Given the description of an element on the screen output the (x, y) to click on. 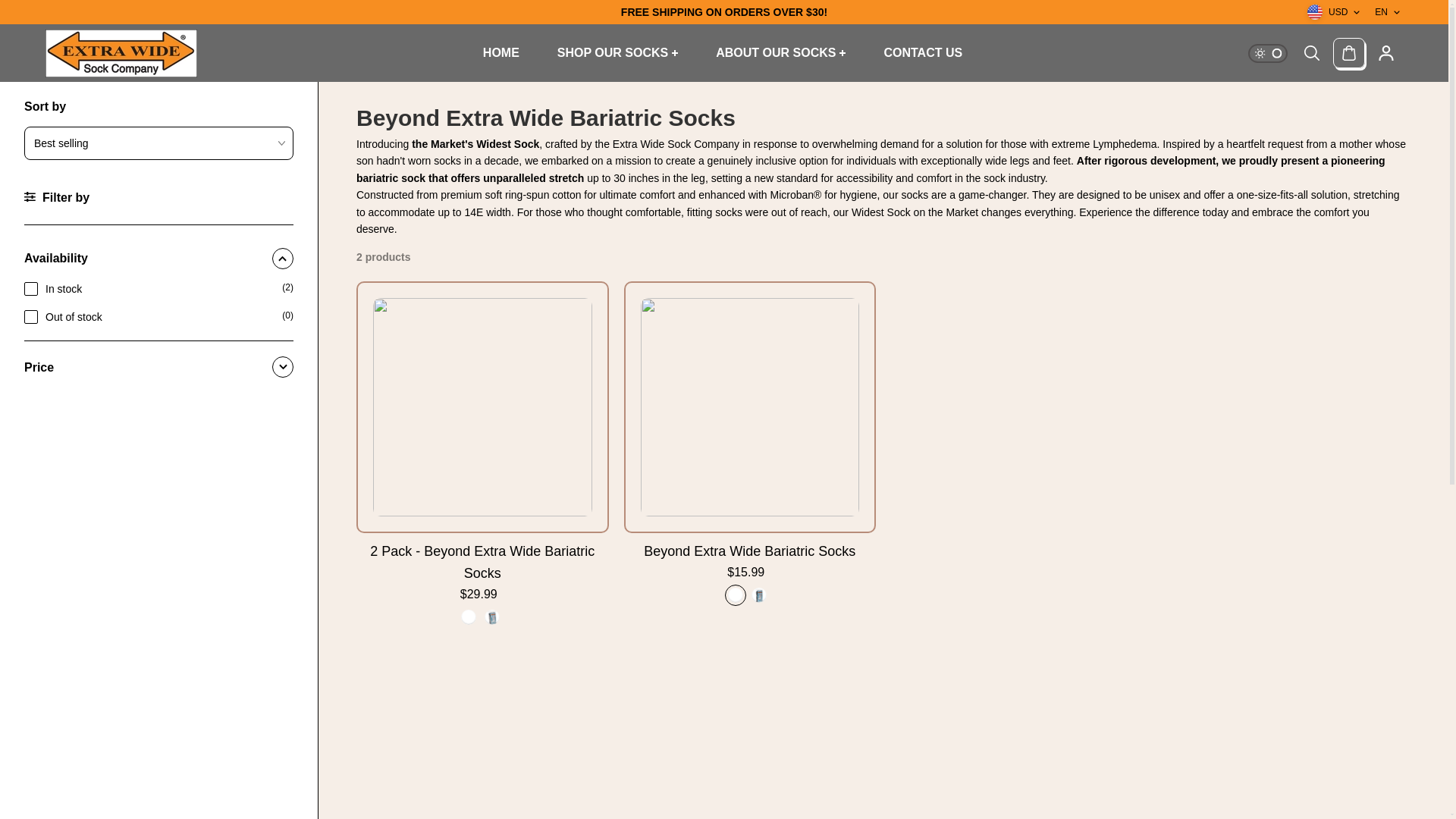
1 (30, 288)
Black (491, 617)
Skip to content (48, 15)
White (735, 595)
White (468, 617)
Black (759, 595)
0 (30, 316)
